Given the description of an element on the screen output the (x, y) to click on. 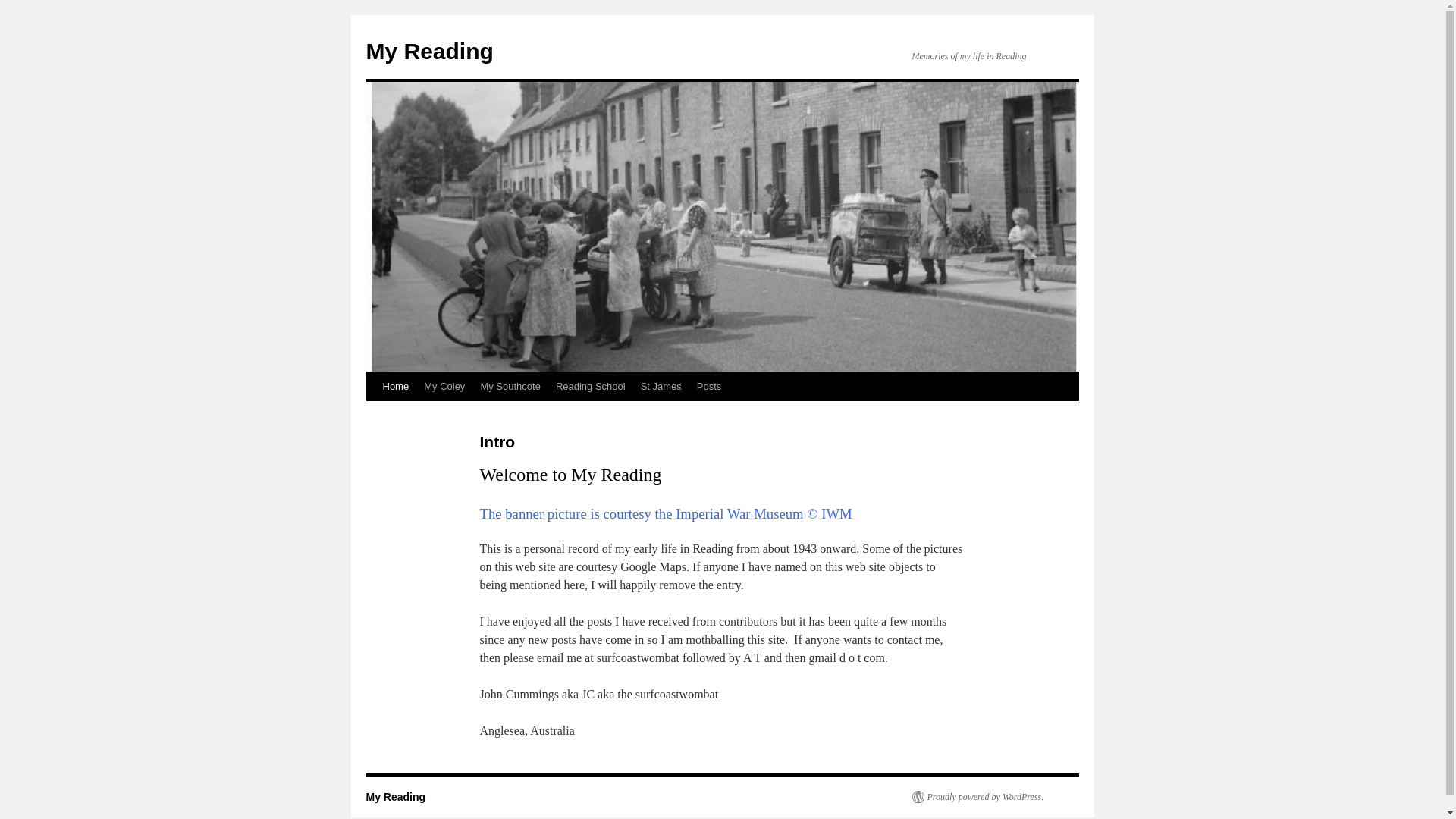
Skip to content Element type: text (372, 414)
Reading School Element type: text (590, 386)
Posts Element type: text (709, 386)
My Reading Element type: text (428, 50)
St James Element type: text (661, 386)
My Southcote Element type: text (510, 386)
Home Element type: text (395, 386)
My Reading Element type: text (395, 796)
Proudly powered by WordPress. Element type: text (977, 796)
My Coley Element type: text (444, 386)
